Given the description of an element on the screen output the (x, y) to click on. 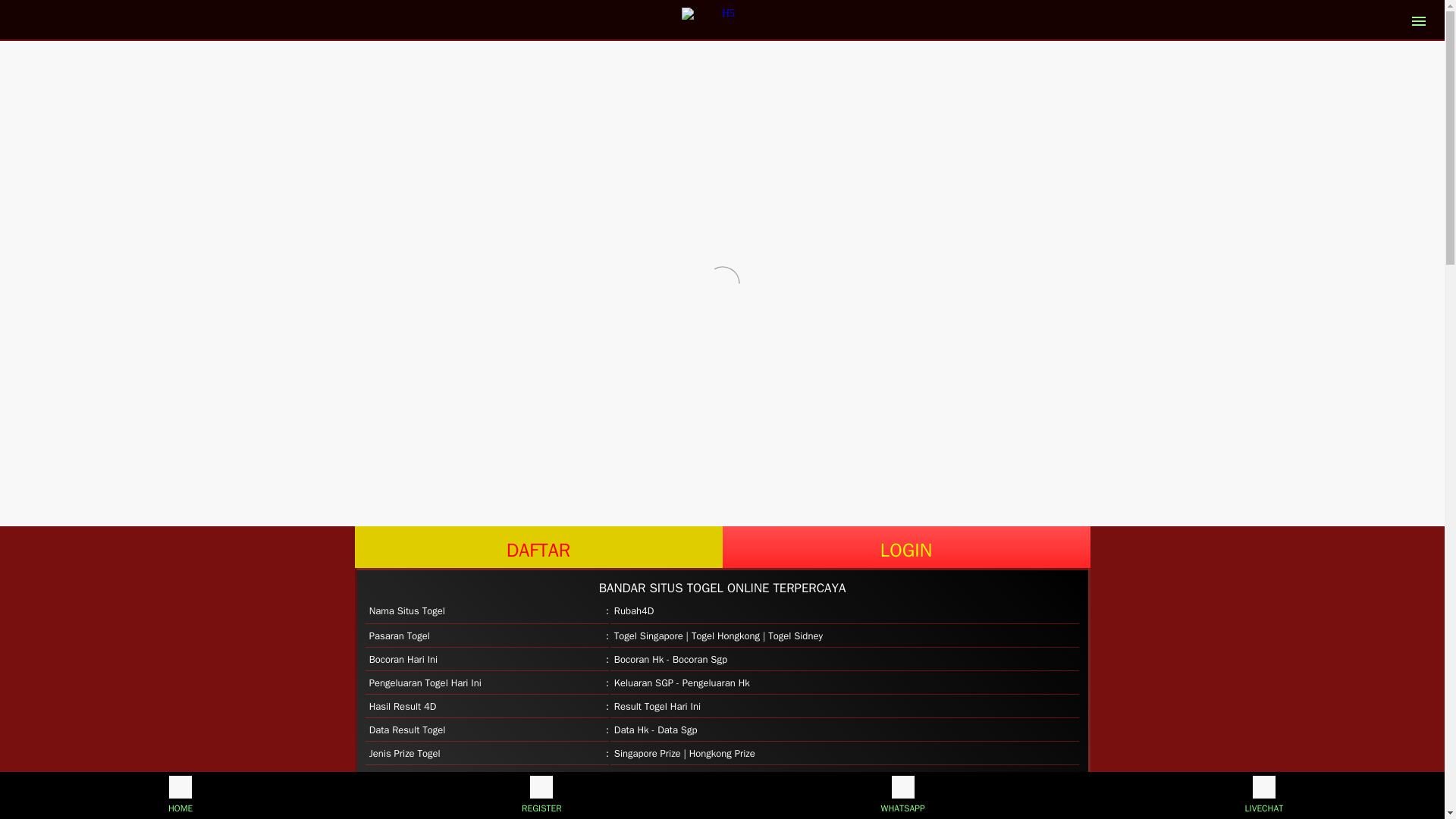
REGISTER (541, 794)
HOME (180, 794)
LIVECHAT (1263, 794)
DAFTAR (538, 547)
LOGIN (905, 547)
WHATSAPP (903, 794)
